Given the description of an element on the screen output the (x, y) to click on. 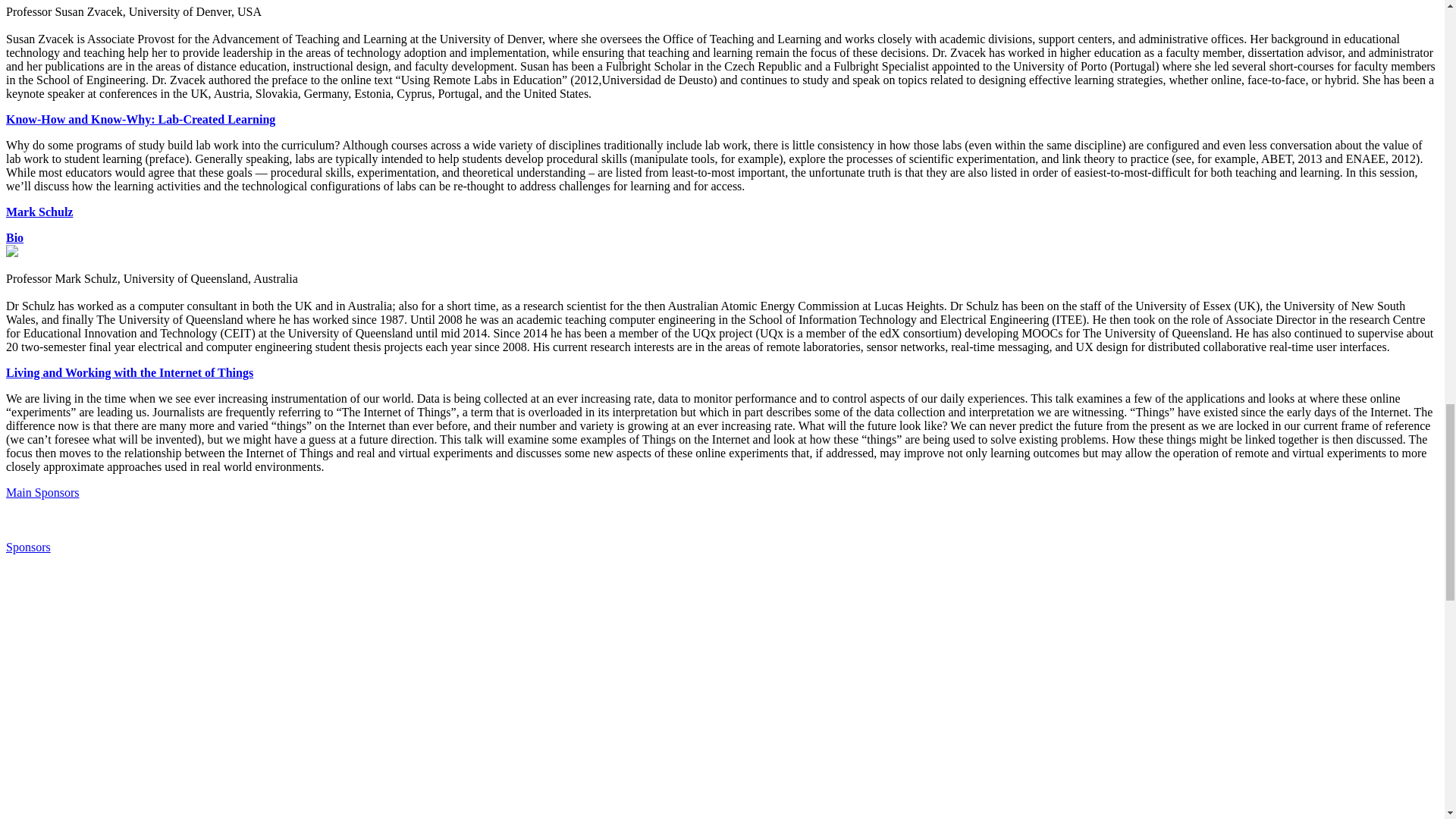
Living and Working with the Internet of Things (129, 372)
Main Sponsors (41, 492)
Bio (14, 237)
Sponsors (27, 546)
Know-How and Know-Why: Lab-Created Learning (140, 119)
